Given the description of an element on the screen output the (x, y) to click on. 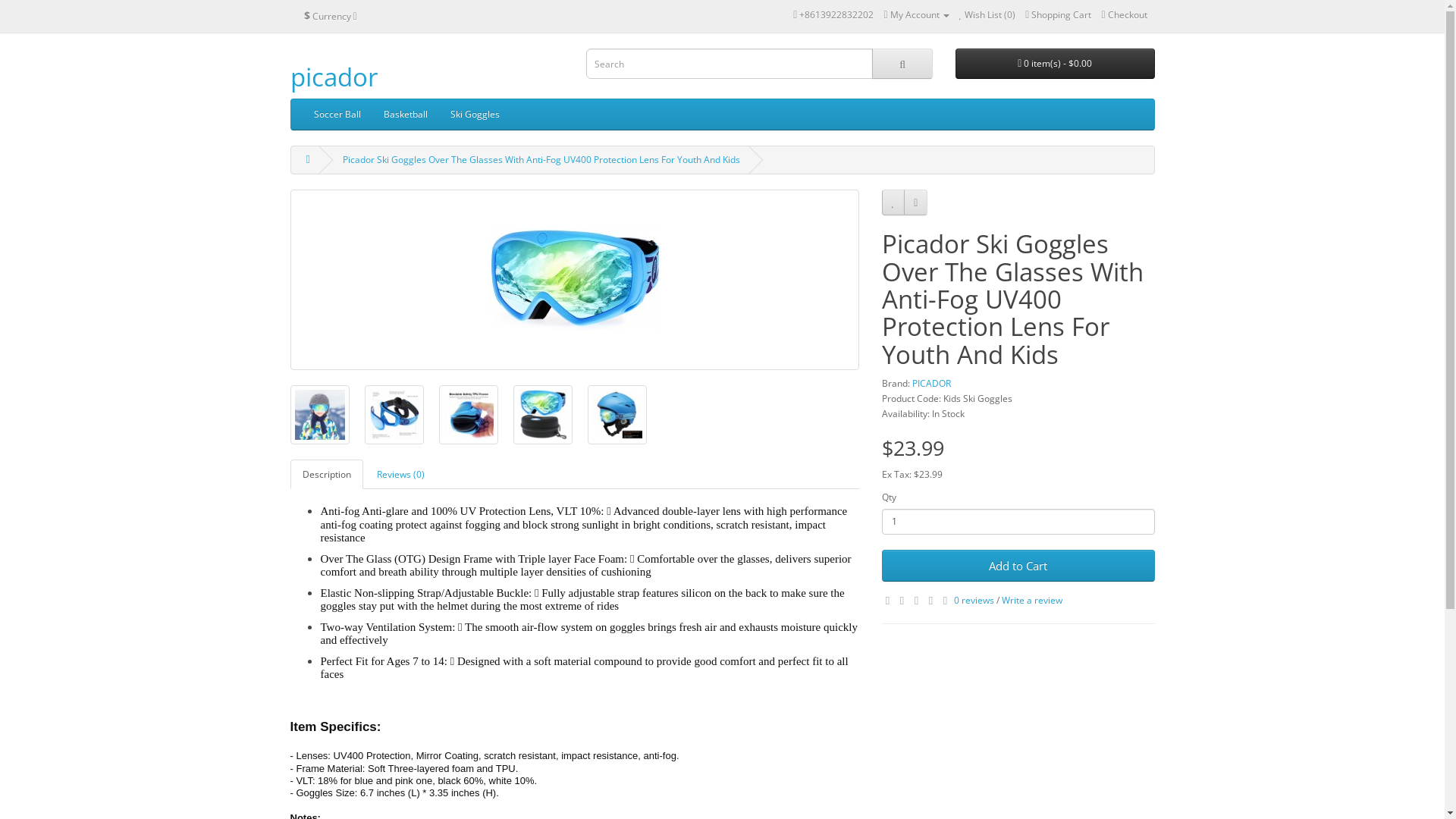
Reviews (0) Element type: text (400, 474)
Add to Cart Element type: text (1017, 565)
Wish List (0) Element type: text (987, 14)
$ Currency Element type: text (330, 15)
My Account Element type: text (915, 14)
Soccer Ball Element type: text (336, 114)
0 reviews Element type: text (973, 599)
picador Element type: text (332, 76)
Description Element type: text (325, 474)
Checkout Element type: text (1123, 14)
Ski Goggles Element type: text (474, 114)
Basketball Element type: text (404, 114)
Write a review Element type: text (1031, 599)
Shopping Cart Element type: text (1058, 14)
PICADOR Element type: text (930, 382)
0 item(s) - $0.00 Element type: text (1054, 63)
